Given the description of an element on the screen output the (x, y) to click on. 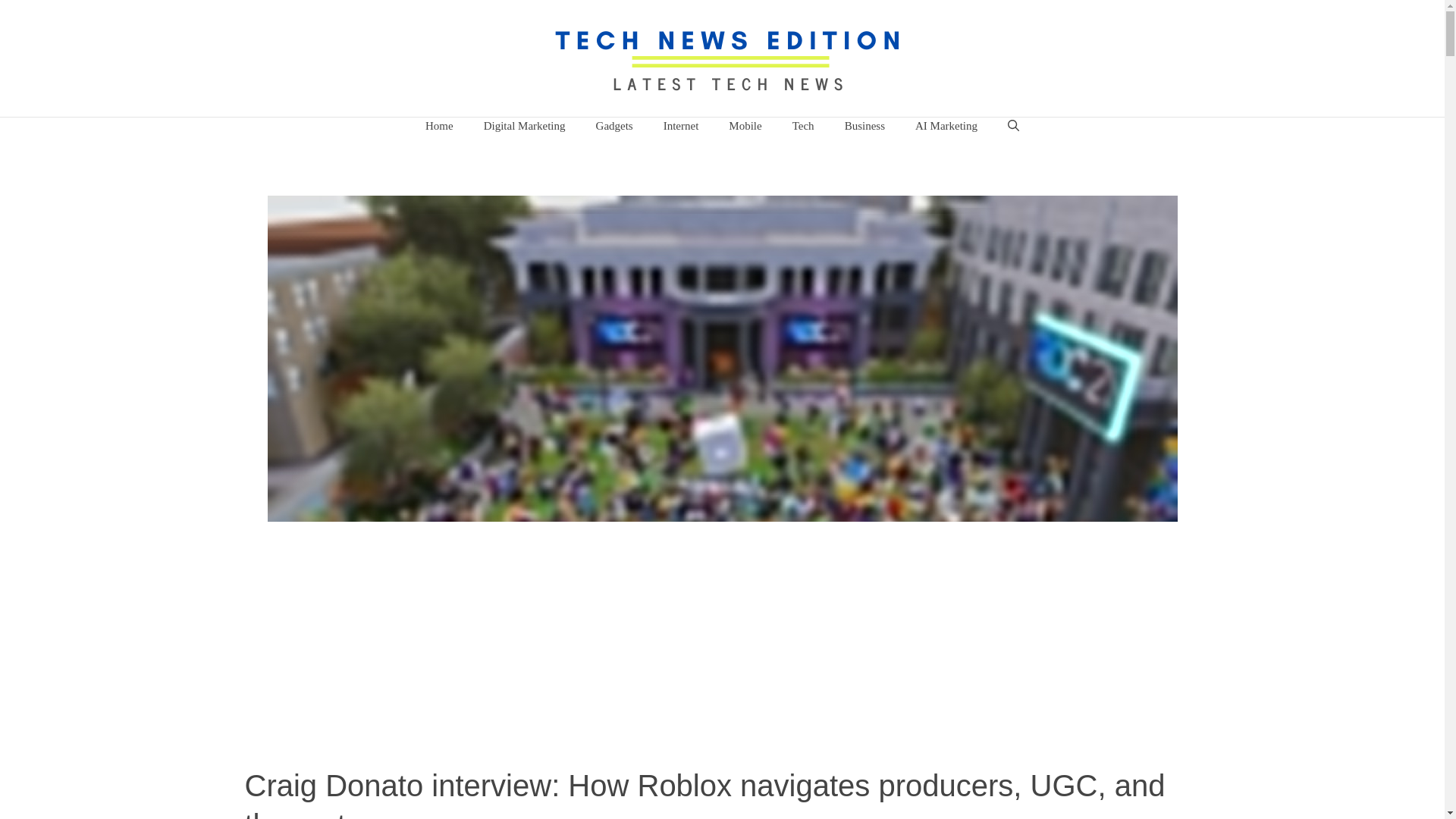
Tech (803, 126)
AI Marketing (945, 126)
Mobile (744, 126)
Internet (680, 126)
Gadgets (613, 126)
Business (864, 126)
Home (439, 126)
Digital Marketing (524, 126)
